Given the description of an element on the screen output the (x, y) to click on. 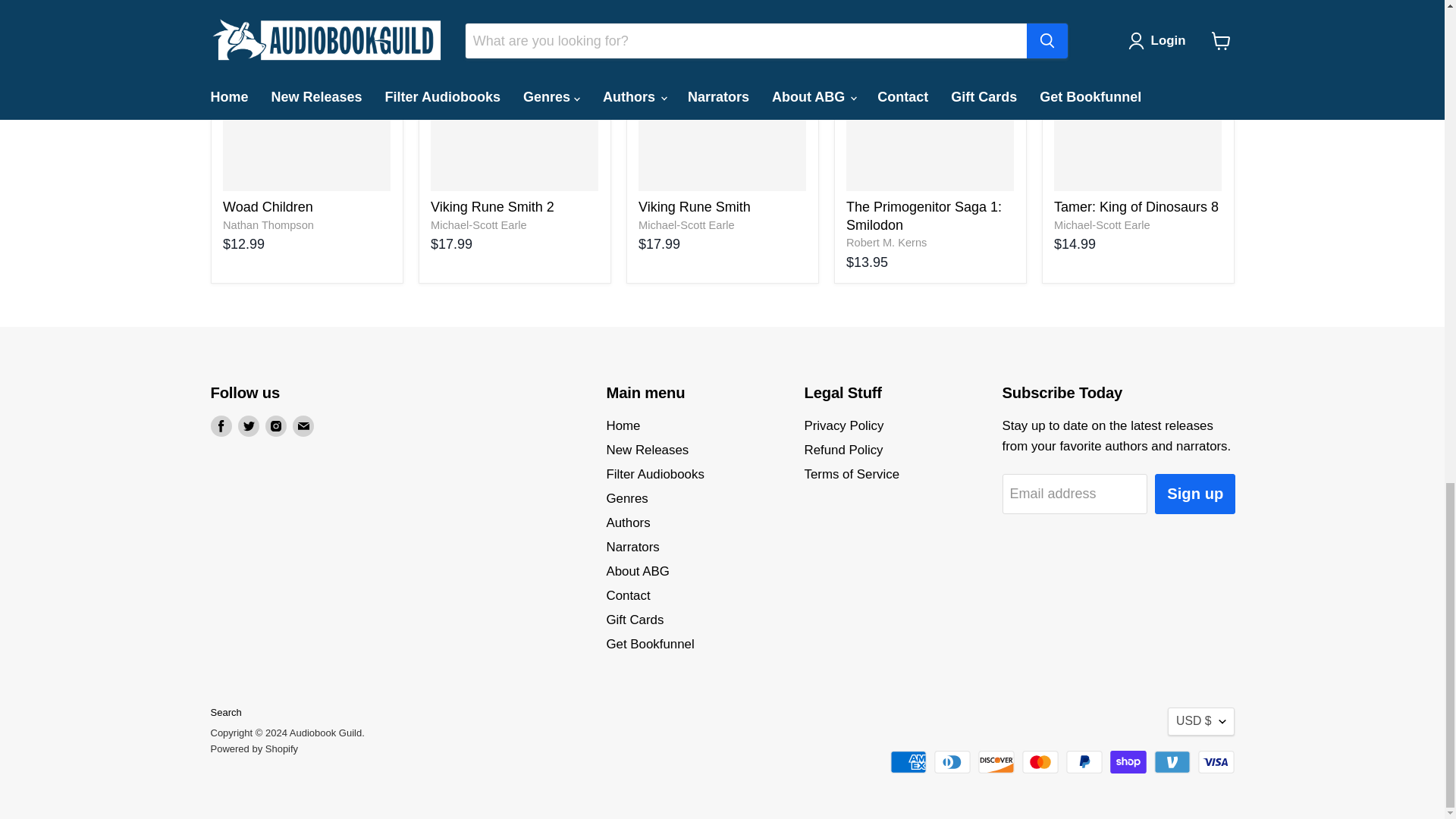
Michael-Scott Earle (478, 224)
Robert M. Kerns (885, 242)
Michael-Scott Earle (687, 224)
American Express (907, 762)
Michael-Scott Earle (1102, 224)
Nathan Thompson (268, 224)
Facebook (221, 425)
Twitter (248, 425)
